Given the description of an element on the screen output the (x, y) to click on. 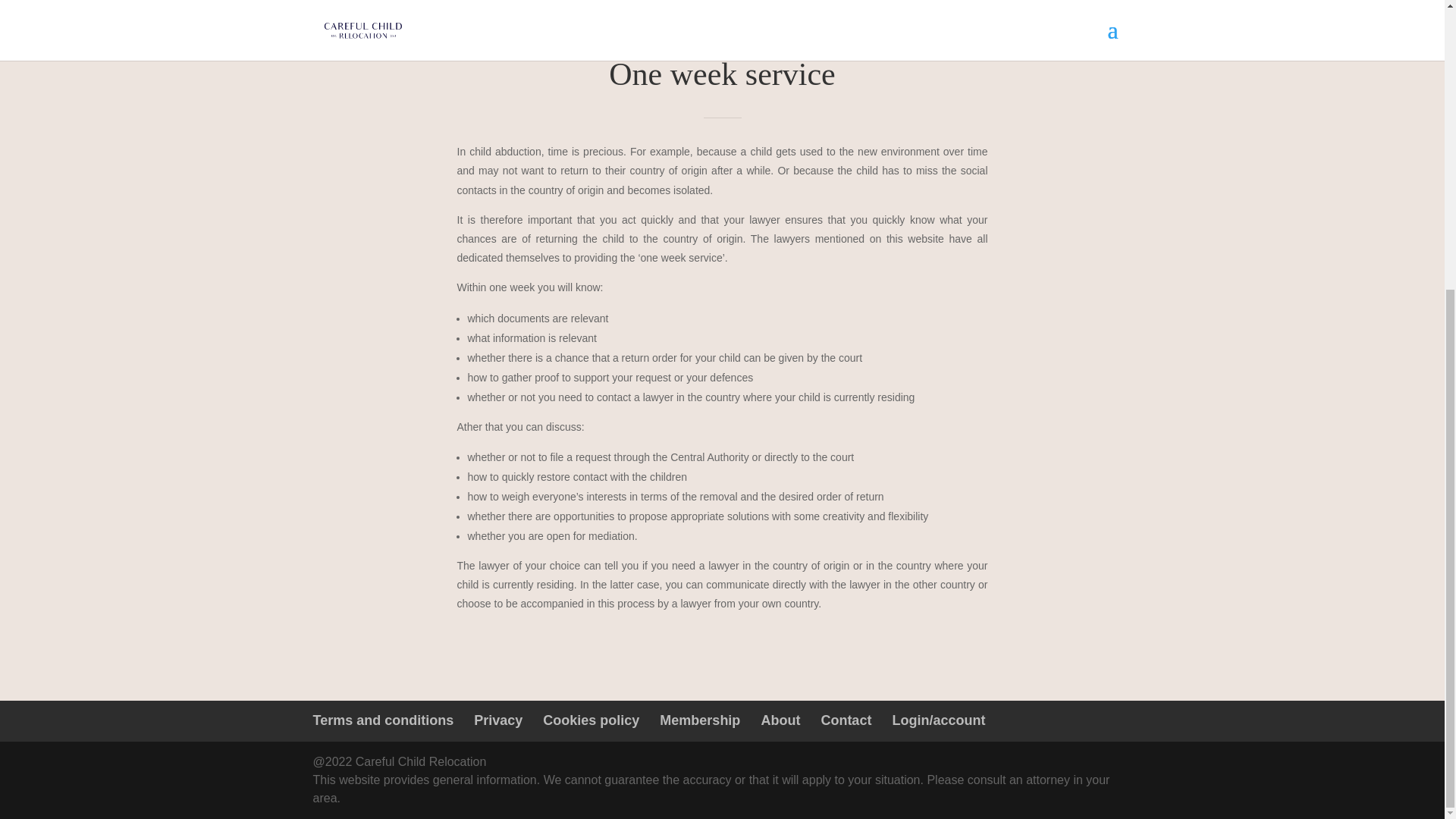
Membership (699, 720)
About (779, 720)
Terms and conditions (382, 720)
Privacy (498, 720)
Contact (845, 720)
Cookies policy (591, 720)
